Given the description of an element on the screen output the (x, y) to click on. 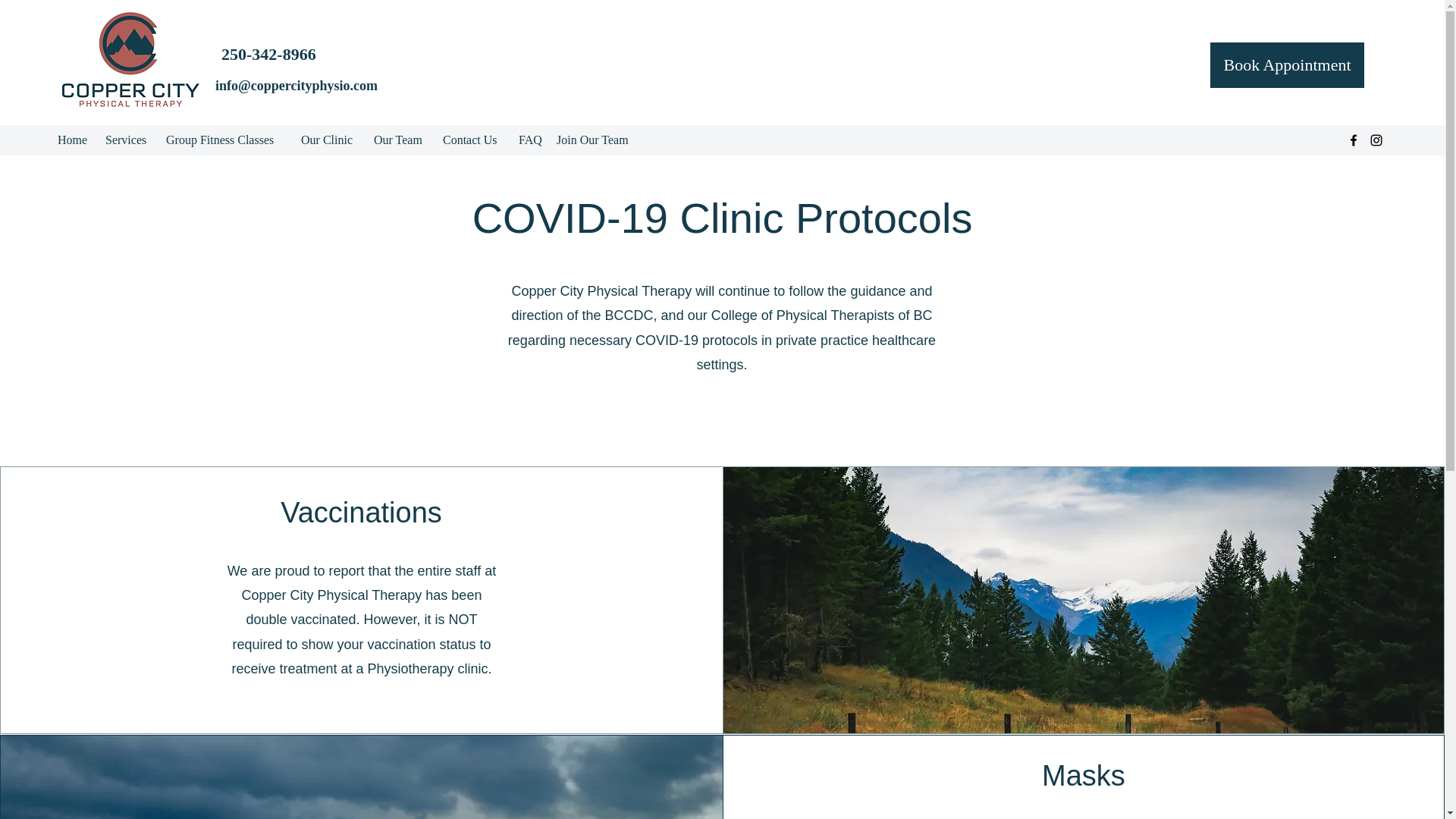
Our Team (400, 140)
Group Fitness Classes (226, 140)
Book Appointment (1286, 64)
Services (127, 140)
Home (73, 140)
250-342-8966 (268, 54)
FAQ (529, 140)
Join Our Team (595, 140)
Our Clinic (330, 140)
Contact Us (473, 140)
